Given the description of an element on the screen output the (x, y) to click on. 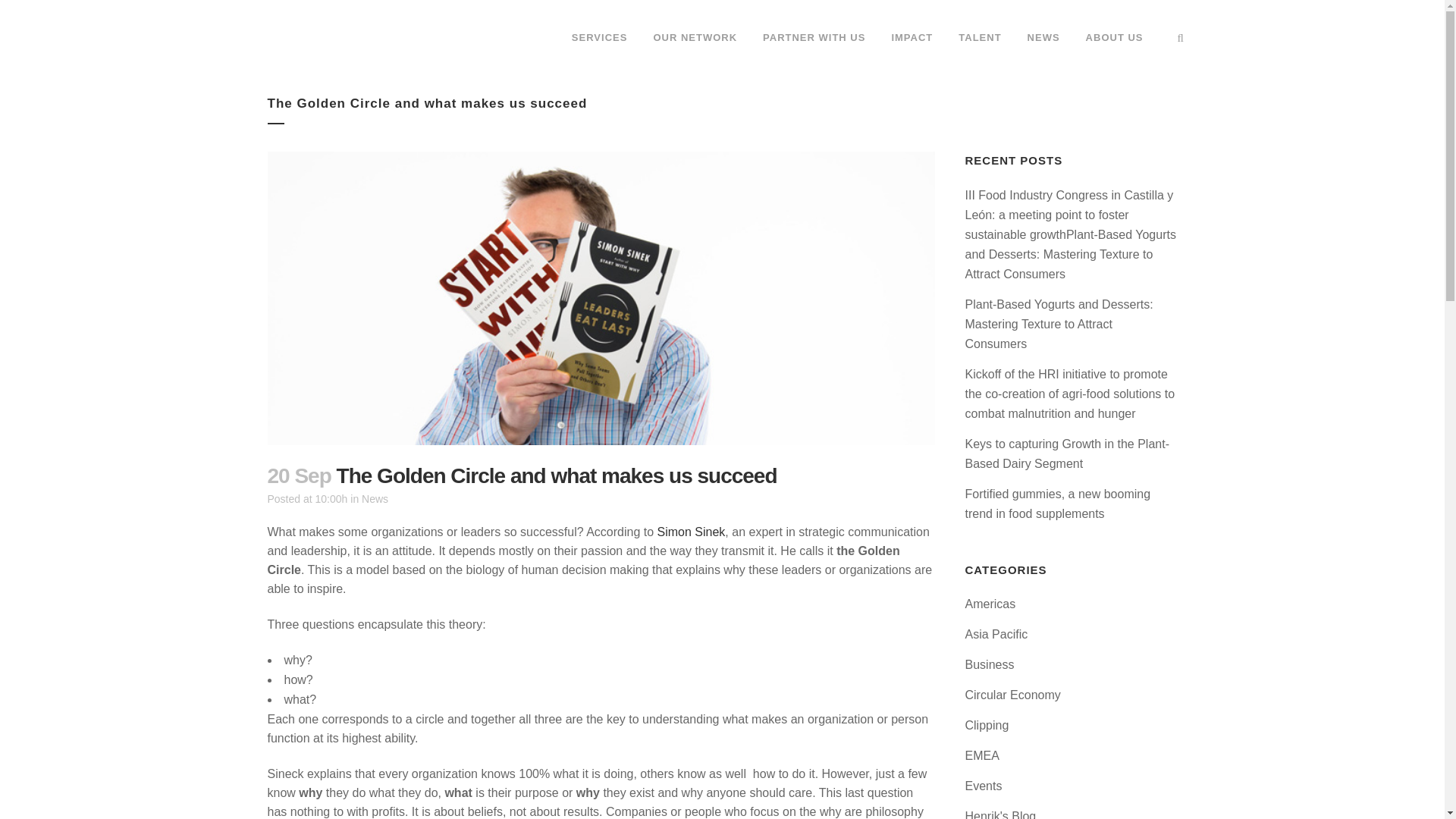
SERVICES (599, 38)
PARTNER WITH US (813, 38)
OUR NETWORK (694, 38)
ABOUT US (1114, 38)
TALENT (978, 38)
Simon Sinek (691, 531)
News (374, 499)
IMPACT (910, 38)
